Given the description of an element on the screen output the (x, y) to click on. 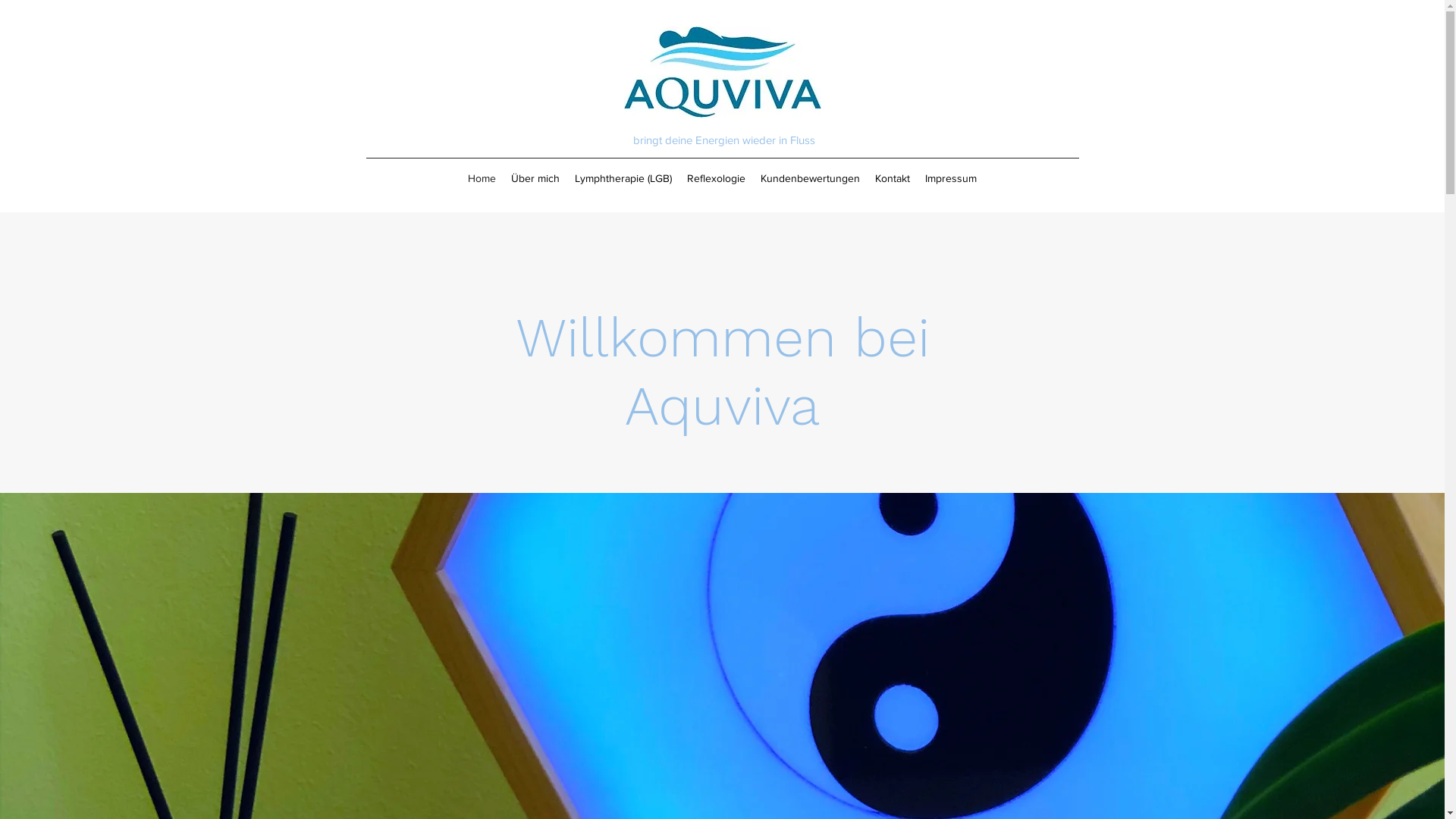
Kontakt Element type: text (892, 177)
Home Element type: text (481, 177)
Reflexologie Element type: text (716, 177)
Kundenbewertungen Element type: text (810, 177)
Impressum Element type: text (950, 177)
Lymphtherapie (LGB) Element type: text (623, 177)
